Given the description of an element on the screen output the (x, y) to click on. 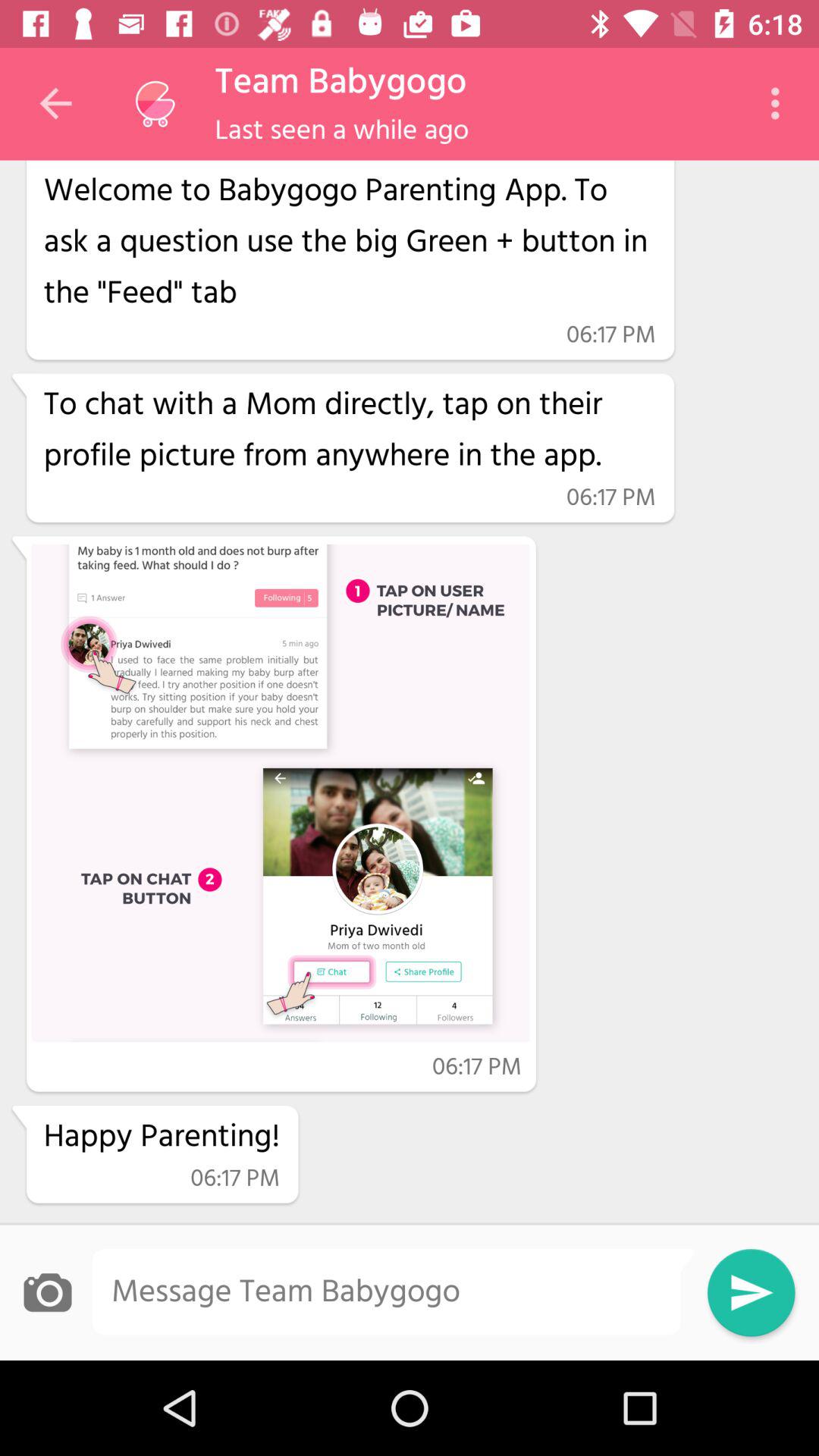
send message (751, 1292)
